Given the description of an element on the screen output the (x, y) to click on. 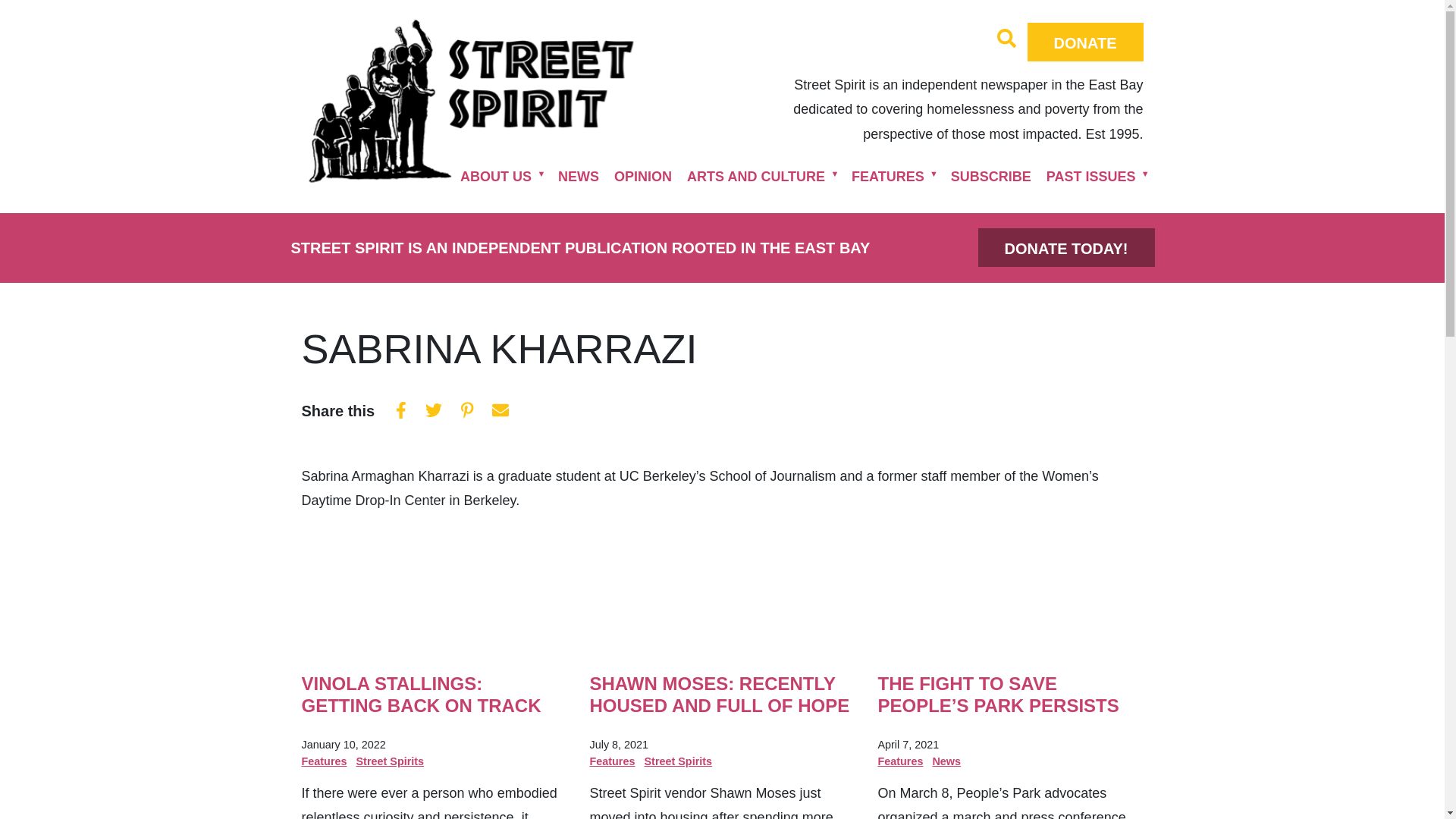
Features (611, 761)
ABOUT US (495, 176)
Features (324, 761)
SUBSCRIBE (991, 176)
OPINION (643, 176)
NEWS (578, 176)
Street Spirits (390, 761)
FEATURES (887, 176)
PAST ISSUES (1090, 176)
ARTS AND CULTURE (755, 176)
